Given the description of an element on the screen output the (x, y) to click on. 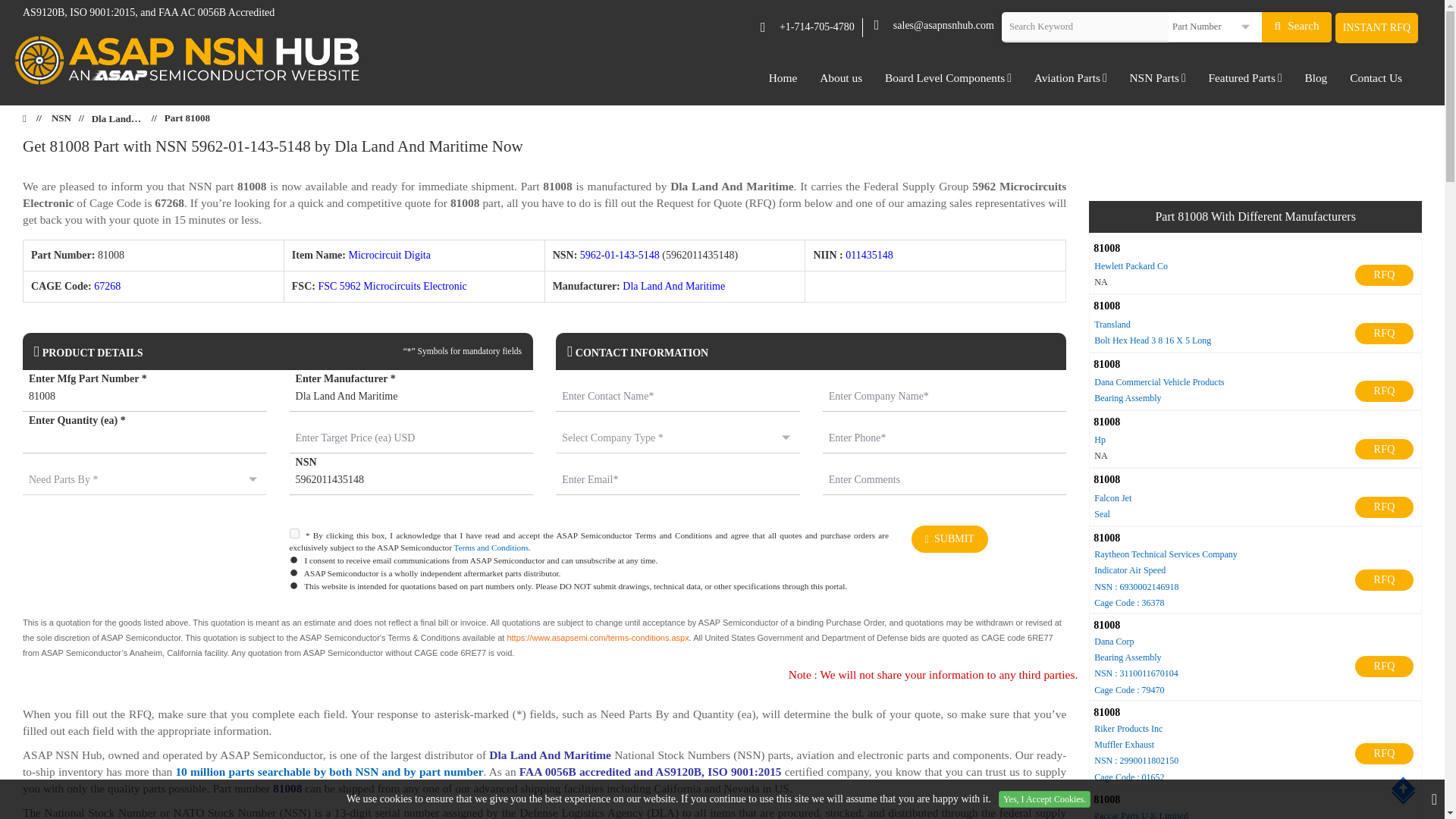
disclaimer (544, 638)
About us (840, 77)
on (294, 533)
INSTANT RFQ (1376, 28)
Contact Us (1375, 77)
5962011435148 (411, 480)
Blog (1315, 77)
NSN Parts (1157, 77)
Aviation Parts (1070, 77)
81008 (144, 396)
